Given the description of an element on the screen output the (x, y) to click on. 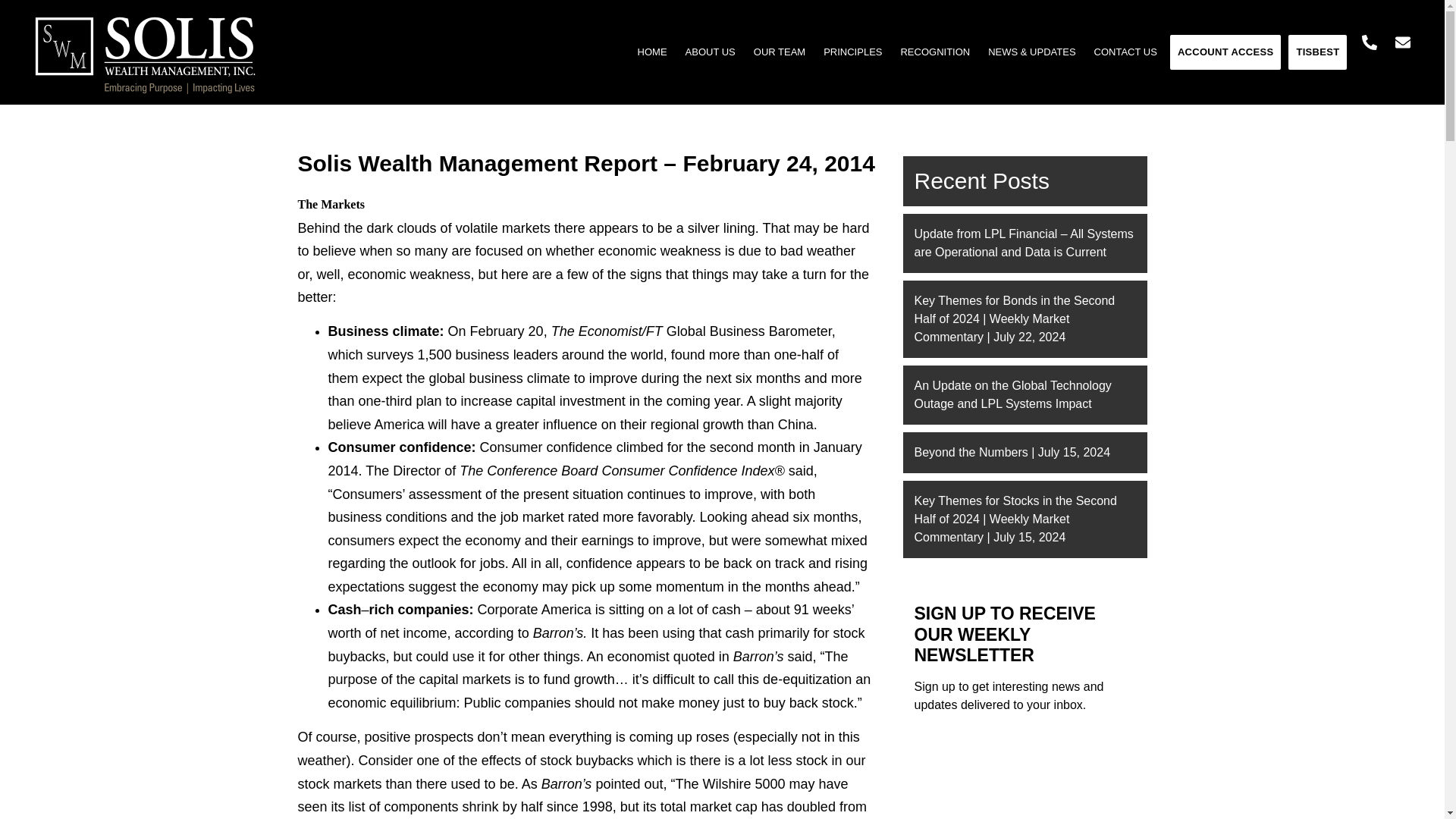
CONTACT US (1125, 52)
ABOUT US (710, 52)
ACCOUNT ACCESS (1225, 52)
PRINCIPLES (852, 52)
RECOGNITION (934, 52)
TISBEST (1317, 52)
HOME (652, 52)
OUR TEAM (778, 52)
